Given the description of an element on the screen output the (x, y) to click on. 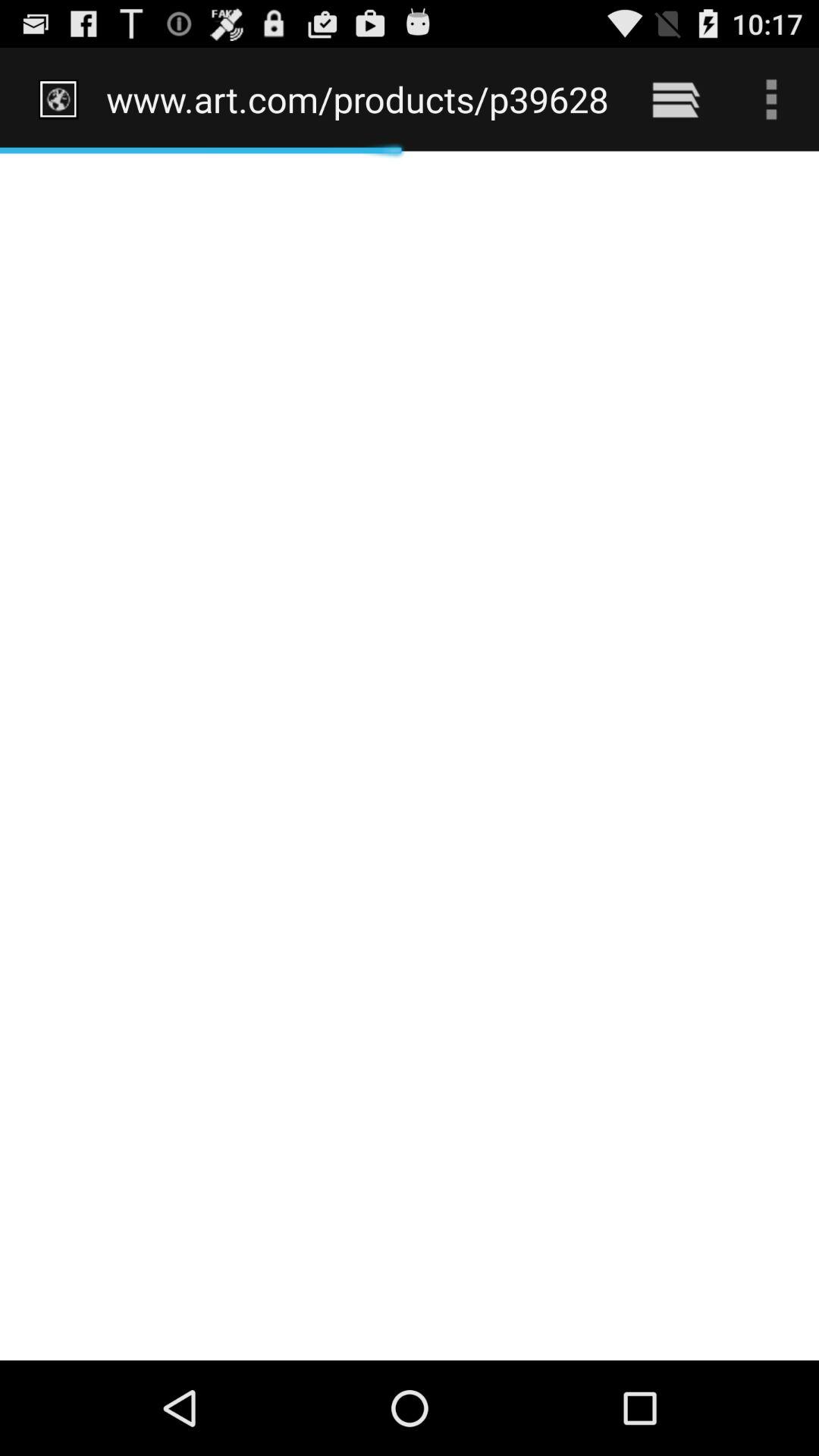
jump to www art com icon (357, 99)
